Given the description of an element on the screen output the (x, y) to click on. 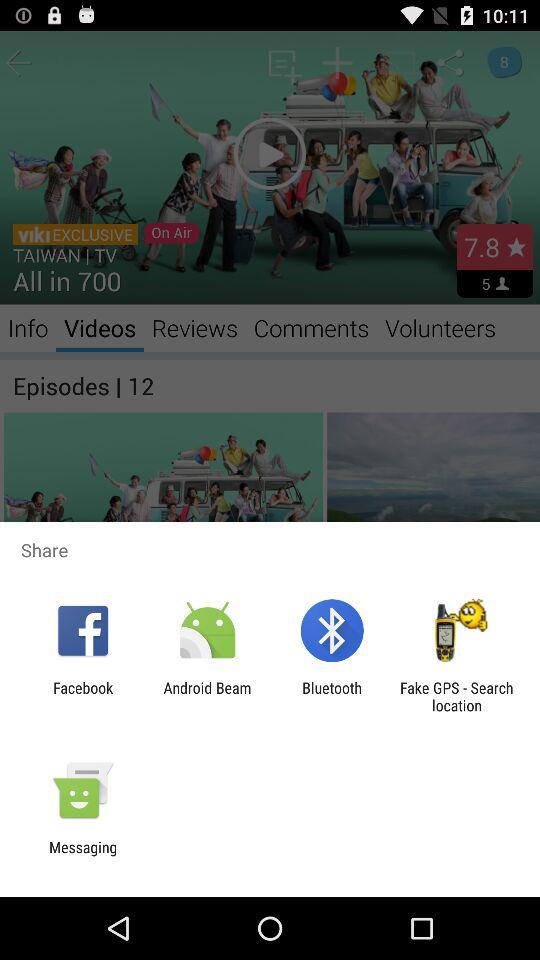
turn off item to the left of fake gps search (331, 696)
